Given the description of an element on the screen output the (x, y) to click on. 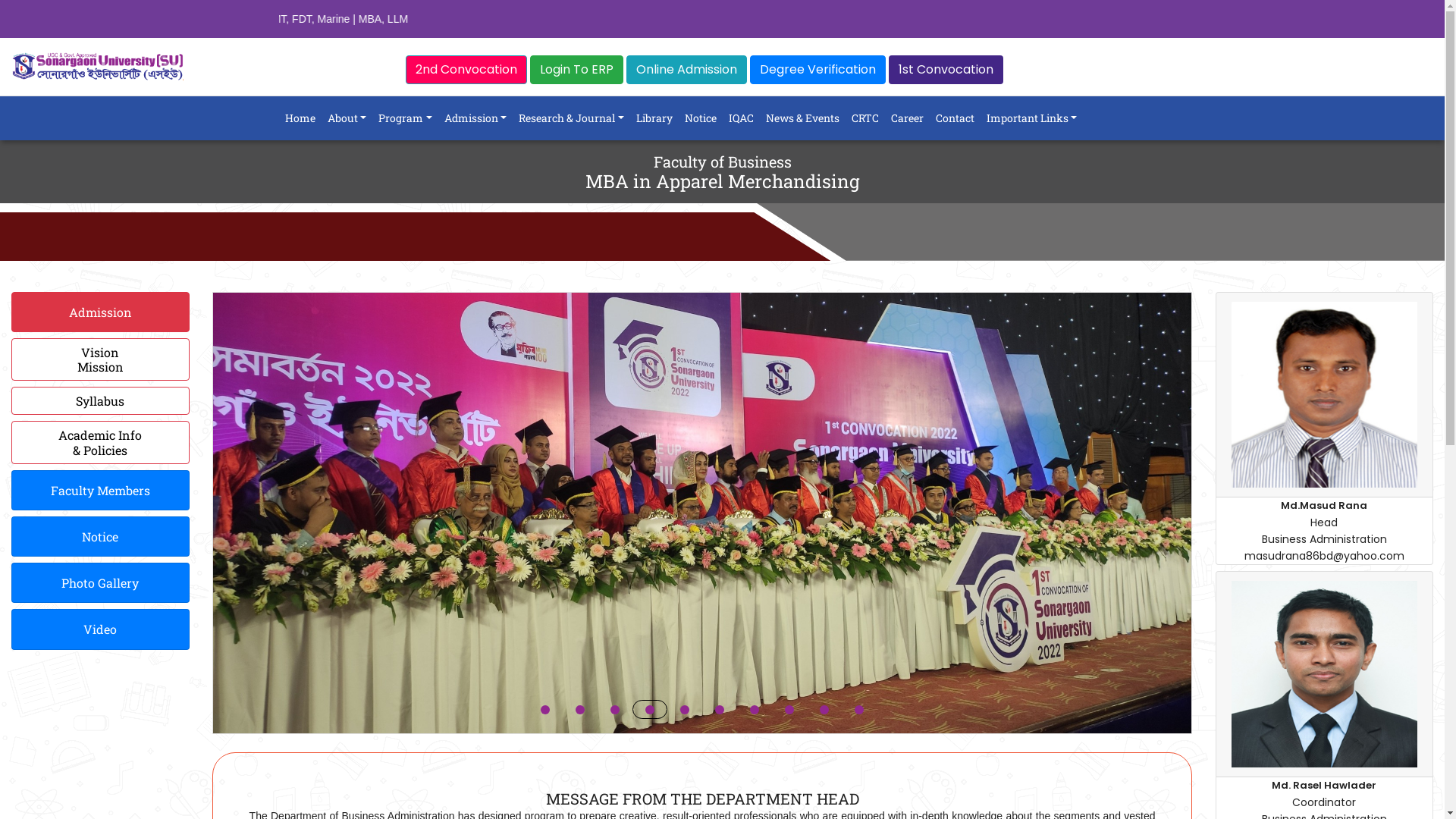
Academic Info
& Policies Element type: text (100, 441)
Degree Verification Element type: text (817, 69)
News & Events Element type: text (802, 118)
Video Element type: text (100, 628)
8 Element type: text (788, 709)
IQAC Element type: text (740, 118)
Admission Element type: text (475, 118)
About Element type: text (347, 118)
6 Element type: text (719, 709)
5 Element type: text (684, 709)
Library Element type: text (654, 118)
Online Admission Element type: text (686, 69)
Syllabus Element type: text (100, 400)
9 Element type: text (823, 709)
7 Element type: text (754, 709)
Home Element type: text (300, 118)
1 Element type: text (544, 709)
3 Element type: text (614, 709)
Research & Journal Element type: text (571, 118)
Faculty Members Element type: text (100, 490)
4 Element type: text (649, 709)
Notice Element type: text (700, 118)
Admission Element type: text (100, 311)
10 Element type: text (858, 709)
Login To ERP Element type: text (576, 69)
Notice Element type: text (100, 536)
2 Element type: text (579, 709)
Program Element type: text (405, 118)
Career Element type: text (906, 118)
Contact Element type: text (954, 118)
Vision
Mission Element type: text (100, 359)
Important Links Element type: text (1031, 118)
2nd Convocation Element type: text (466, 69)
Photo Gallery Element type: text (100, 582)
CRTC Element type: text (864, 118)
1st Convocation Element type: text (945, 69)
